Given the description of an element on the screen output the (x, y) to click on. 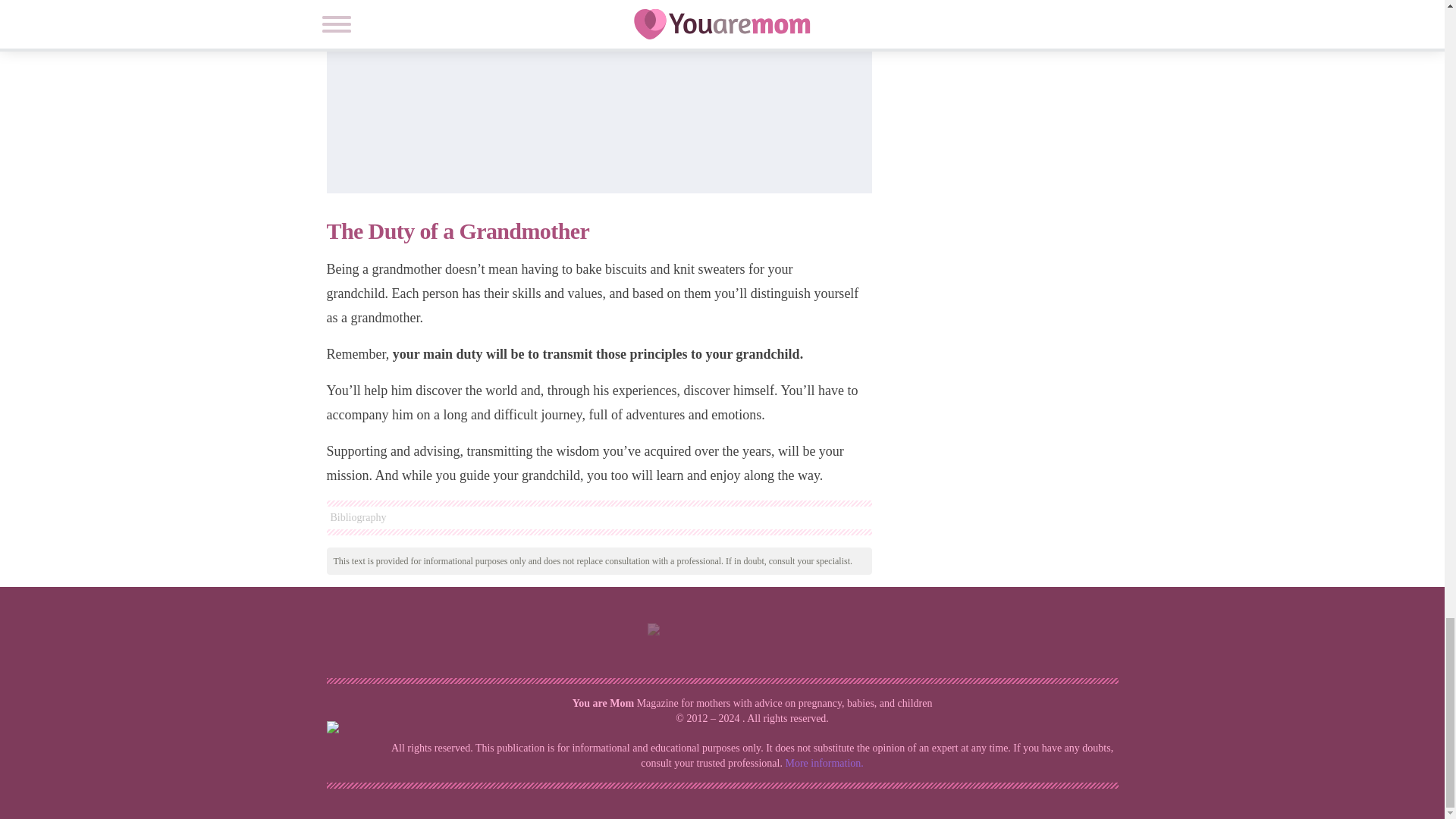
Bibliography (598, 517)
More information. (823, 763)
